Given the description of an element on the screen output the (x, y) to click on. 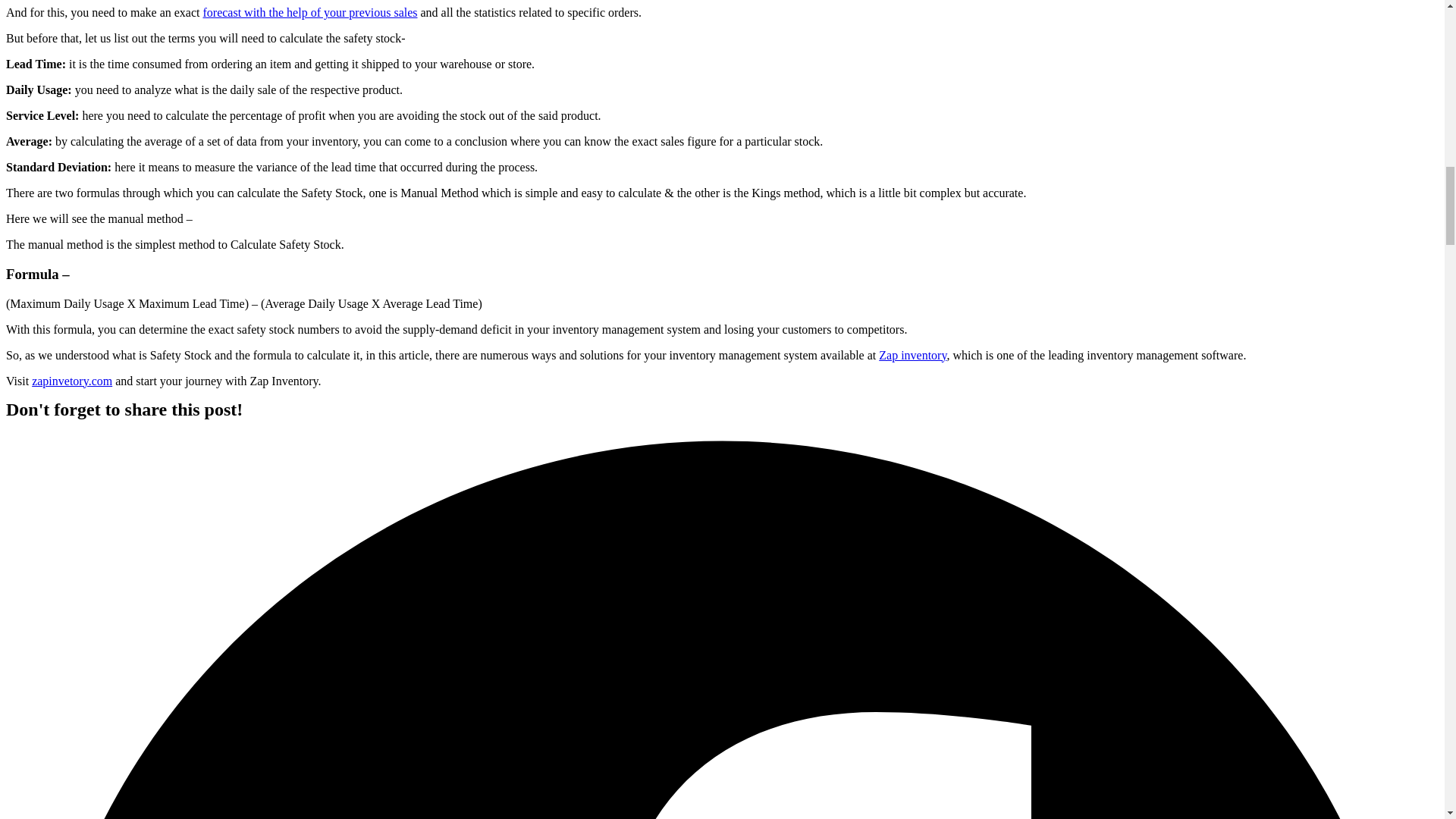
zapinvetory.com (72, 380)
Zap inventory (912, 354)
forecast with the help of your previous sales (309, 11)
